Given the description of an element on the screen output the (x, y) to click on. 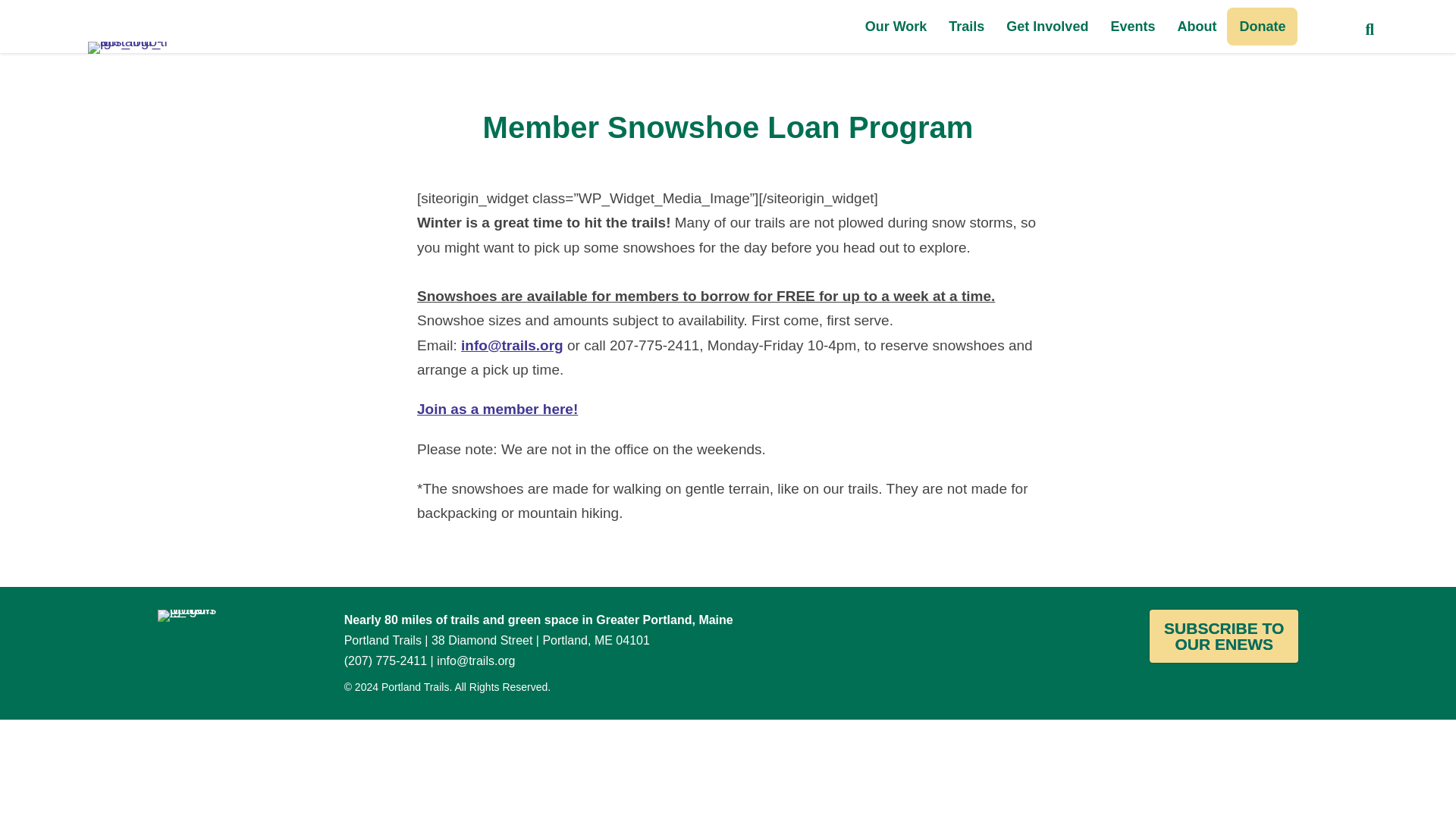
Trails (965, 26)
Join as a member here! (497, 408)
Get Involved (1047, 26)
Our Work (895, 26)
Donate (1261, 26)
F (1320, 26)
Search (1372, 29)
I (1348, 25)
Events (1132, 26)
About (1196, 26)
